Given the description of an element on the screen output the (x, y) to click on. 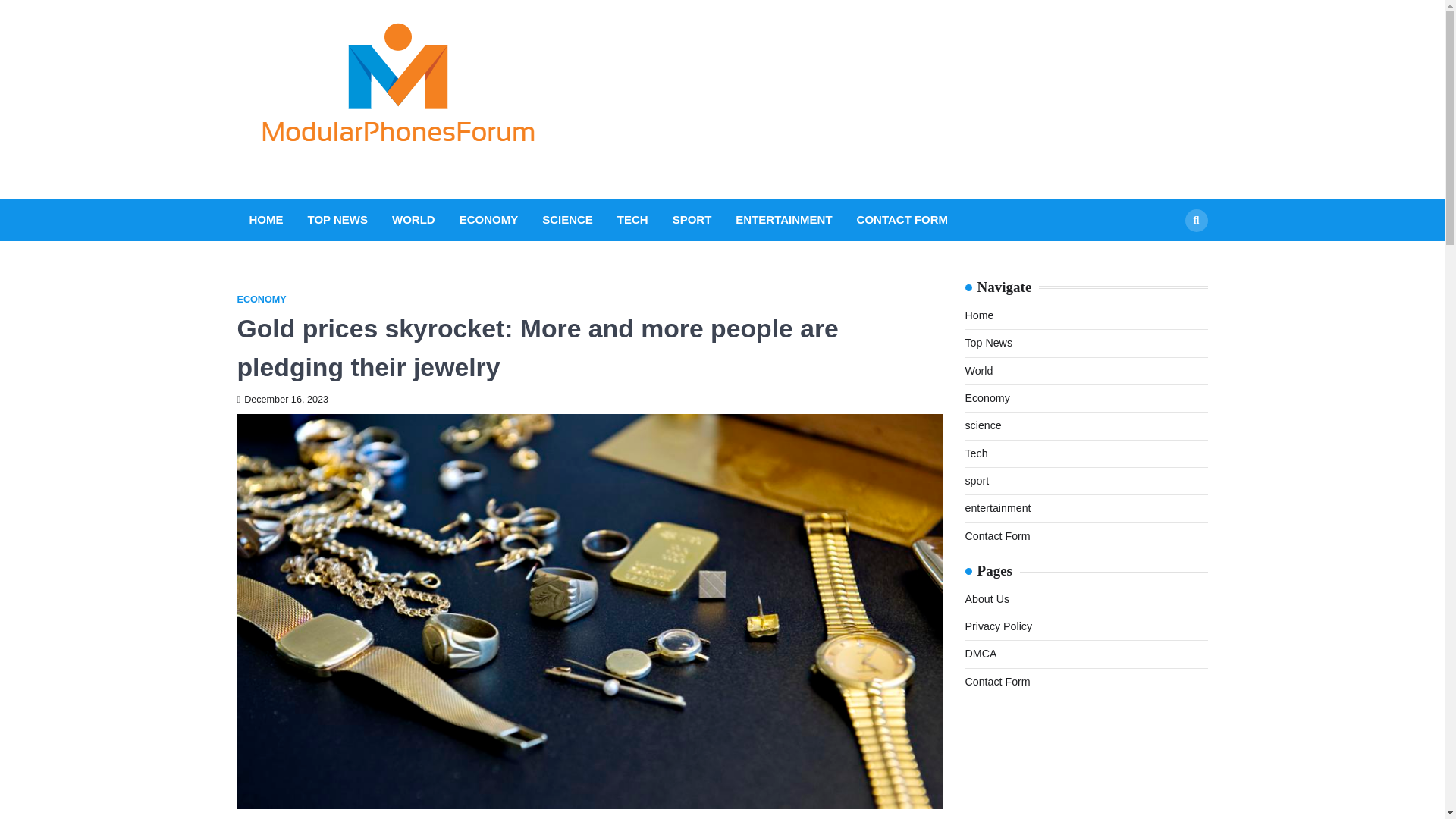
science (982, 425)
sport (975, 480)
Search (1196, 220)
Privacy Policy (997, 625)
TECH (632, 220)
DMCA (979, 653)
Top News (987, 342)
Economy (986, 398)
ENTERTAINMENT (783, 220)
